Given the description of an element on the screen output the (x, y) to click on. 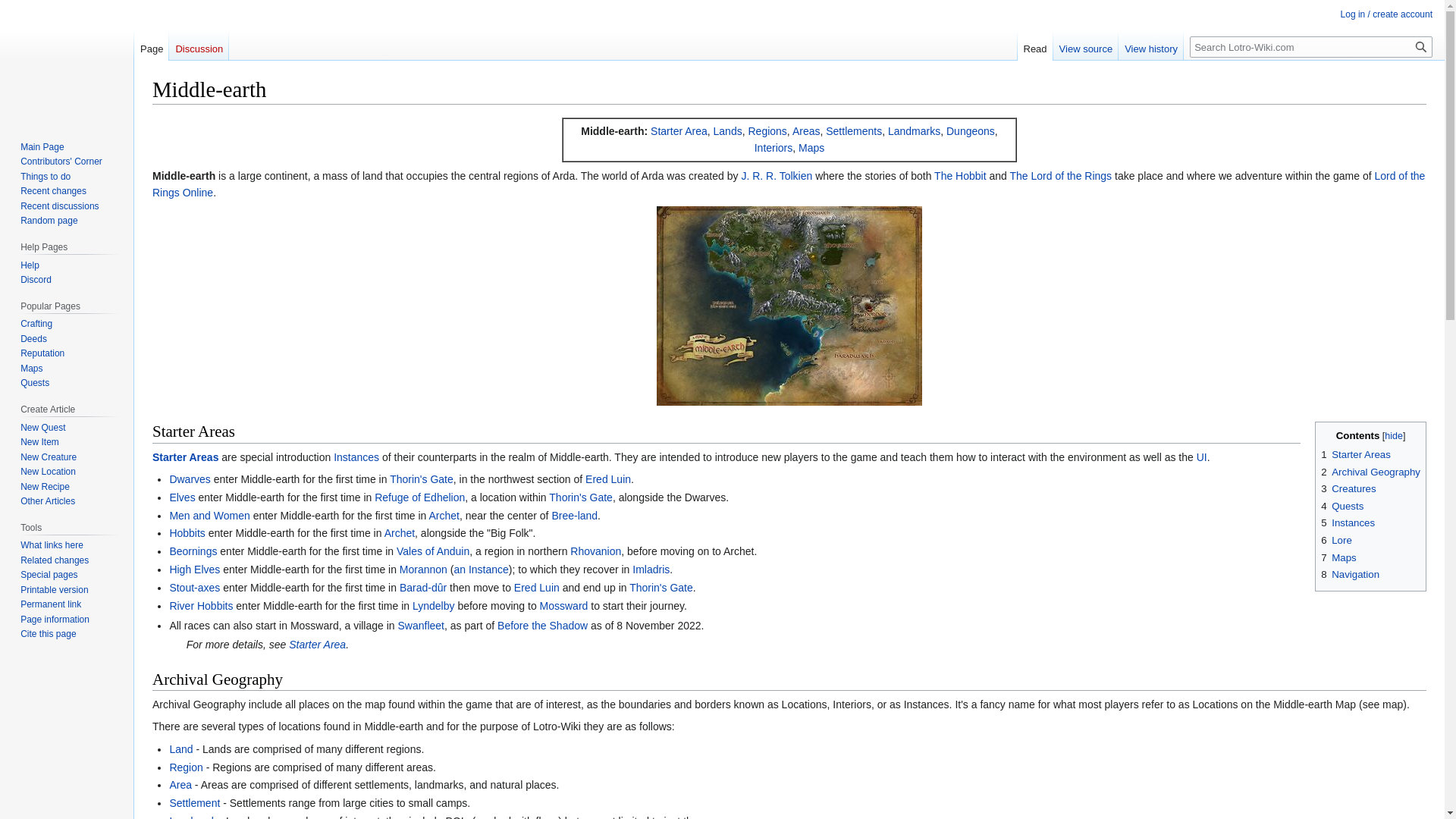
Go (1420, 46)
The Lord of the Rings (1060, 175)
Go (1420, 46)
Dungeons (970, 131)
Landmark (914, 131)
Areas (806, 131)
The Lord of the Rings (1060, 175)
5 Instances (1347, 522)
1 Starter Areas (1355, 454)
Dungeons (970, 131)
